Given the description of an element on the screen output the (x, y) to click on. 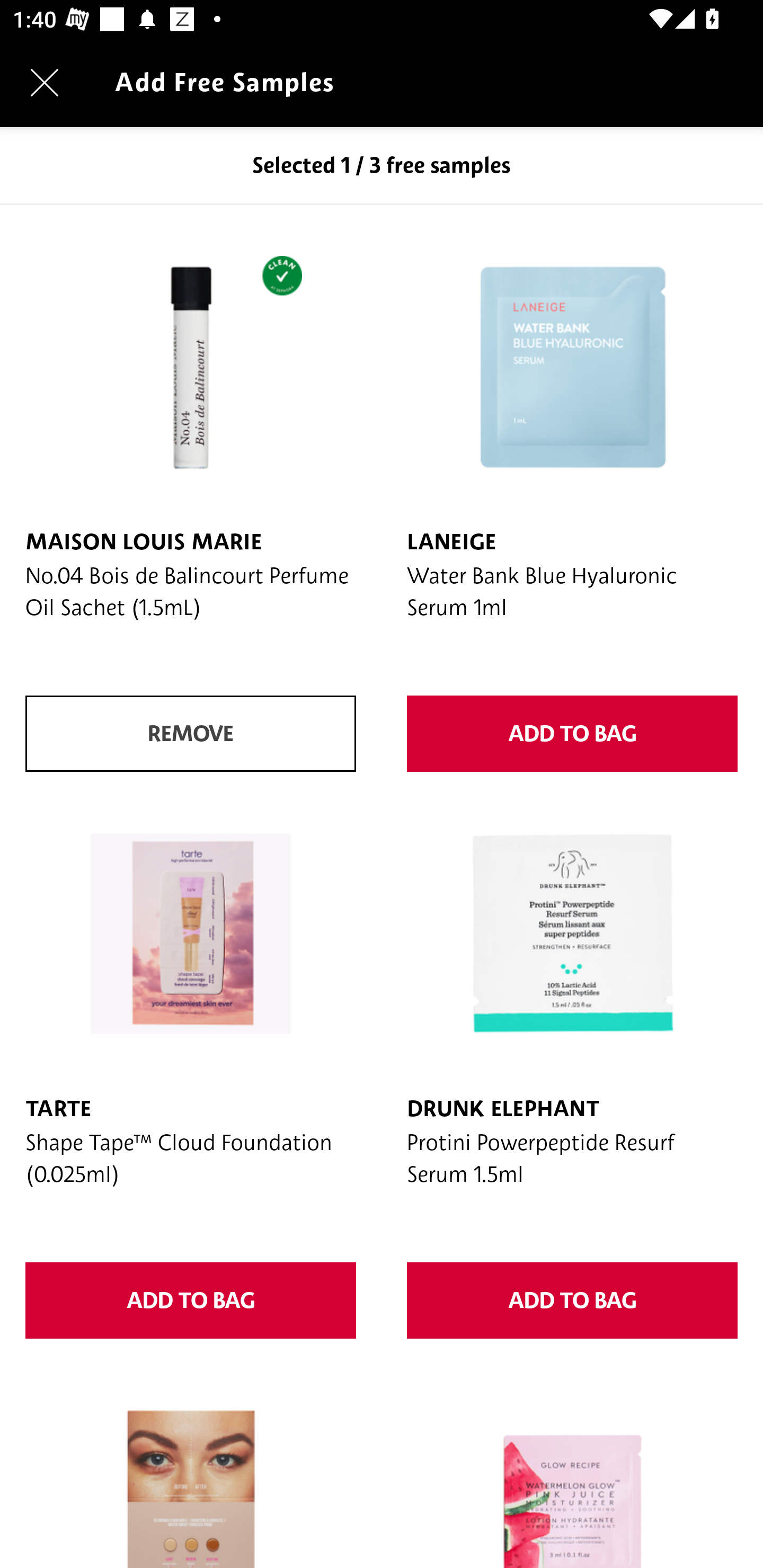
Navigate up (44, 82)
REMOVE (190, 733)
ADD TO BAG (571, 733)
ADD TO BAG (190, 1300)
ADD TO BAG (571, 1300)
